Given the description of an element on the screen output the (x, y) to click on. 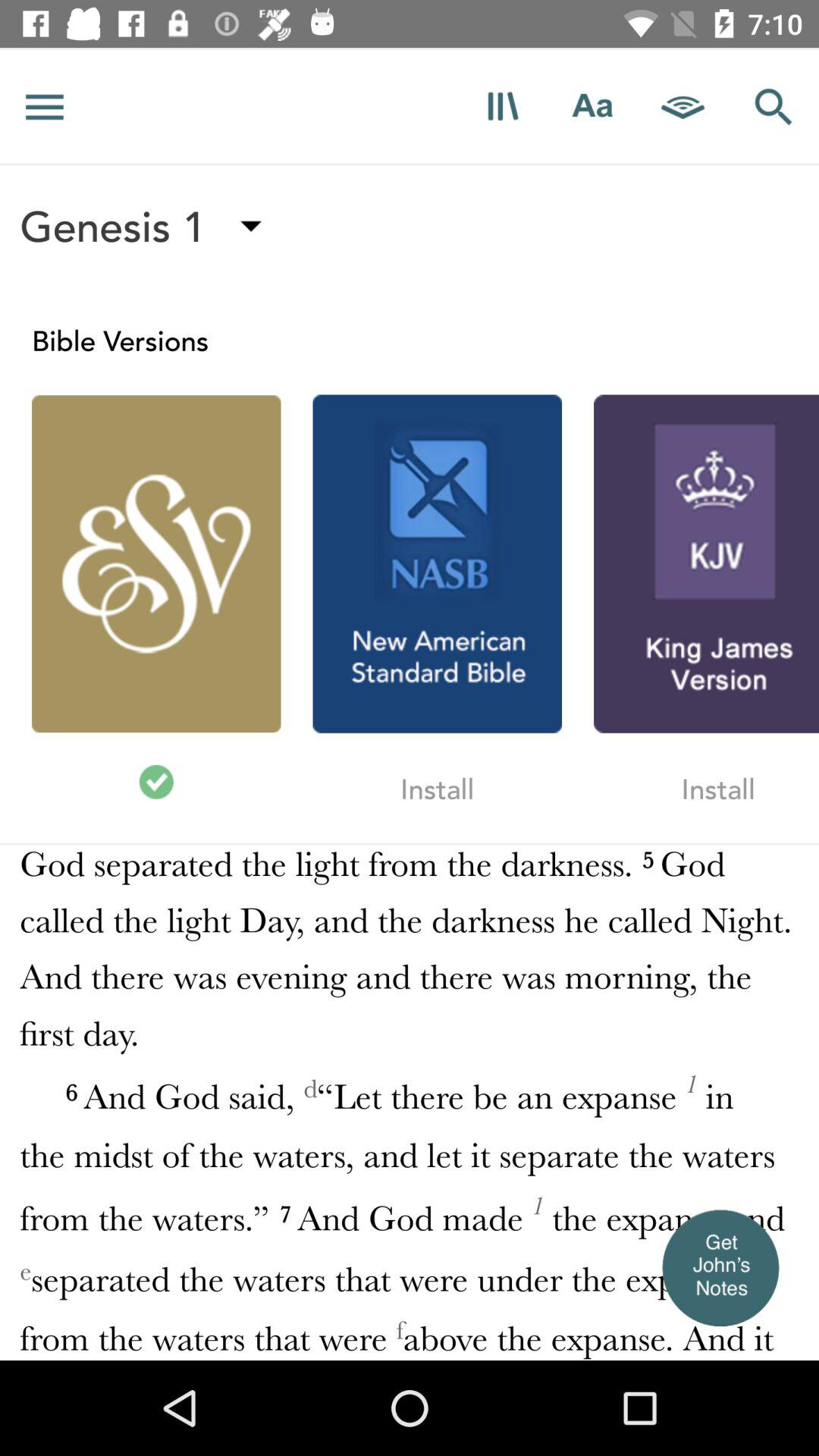
change the font (592, 106)
